Given the description of an element on the screen output the (x, y) to click on. 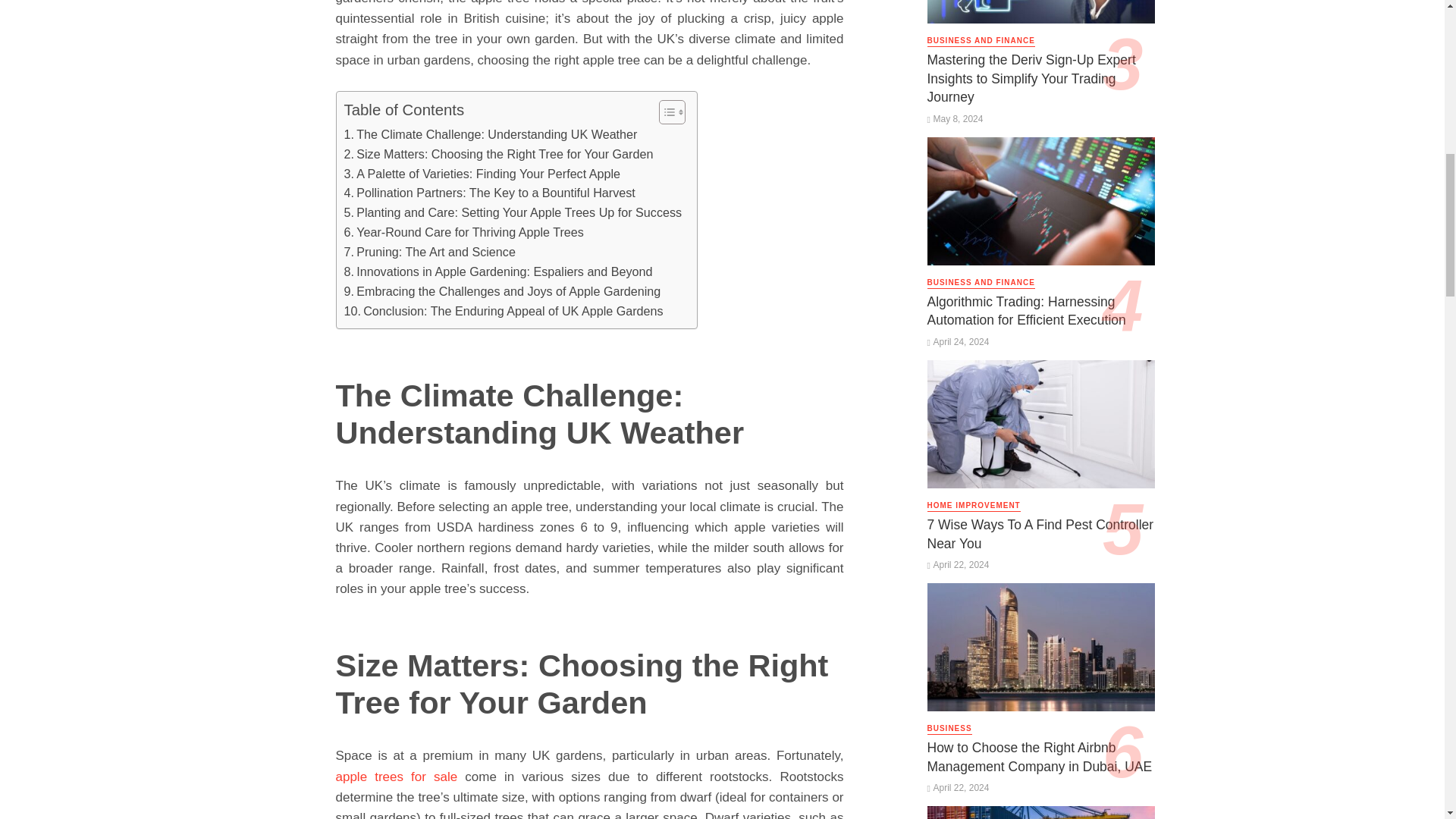
Embracing the Challenges and Joys of Apple Gardening (502, 291)
Size Matters: Choosing the Right Tree for Your Garden (498, 154)
The Climate Challenge: Understanding UK Weather (490, 134)
A Palette of Varieties: Finding Your Perfect Apple (482, 174)
Pollination Partners: The Key to a Bountiful Harvest (488, 193)
Innovations in Apple Gardening: Espaliers and Beyond (497, 271)
Planting and Care: Setting Your Apple Trees Up for Success (512, 212)
Pollination Partners: The Key to a Bountiful Harvest (488, 193)
Size Matters: Choosing the Right Tree for Your Garden (498, 154)
Year-Round Care for Thriving Apple Trees (463, 232)
Embracing the Challenges and Joys of Apple Gardening (502, 291)
Year-Round Care for Thriving Apple Trees (463, 232)
Innovations in Apple Gardening: Espaliers and Beyond (497, 271)
Pruning: The Art and Science (429, 252)
A Palette of Varieties: Finding Your Perfect Apple (482, 174)
